Given the description of an element on the screen output the (x, y) to click on. 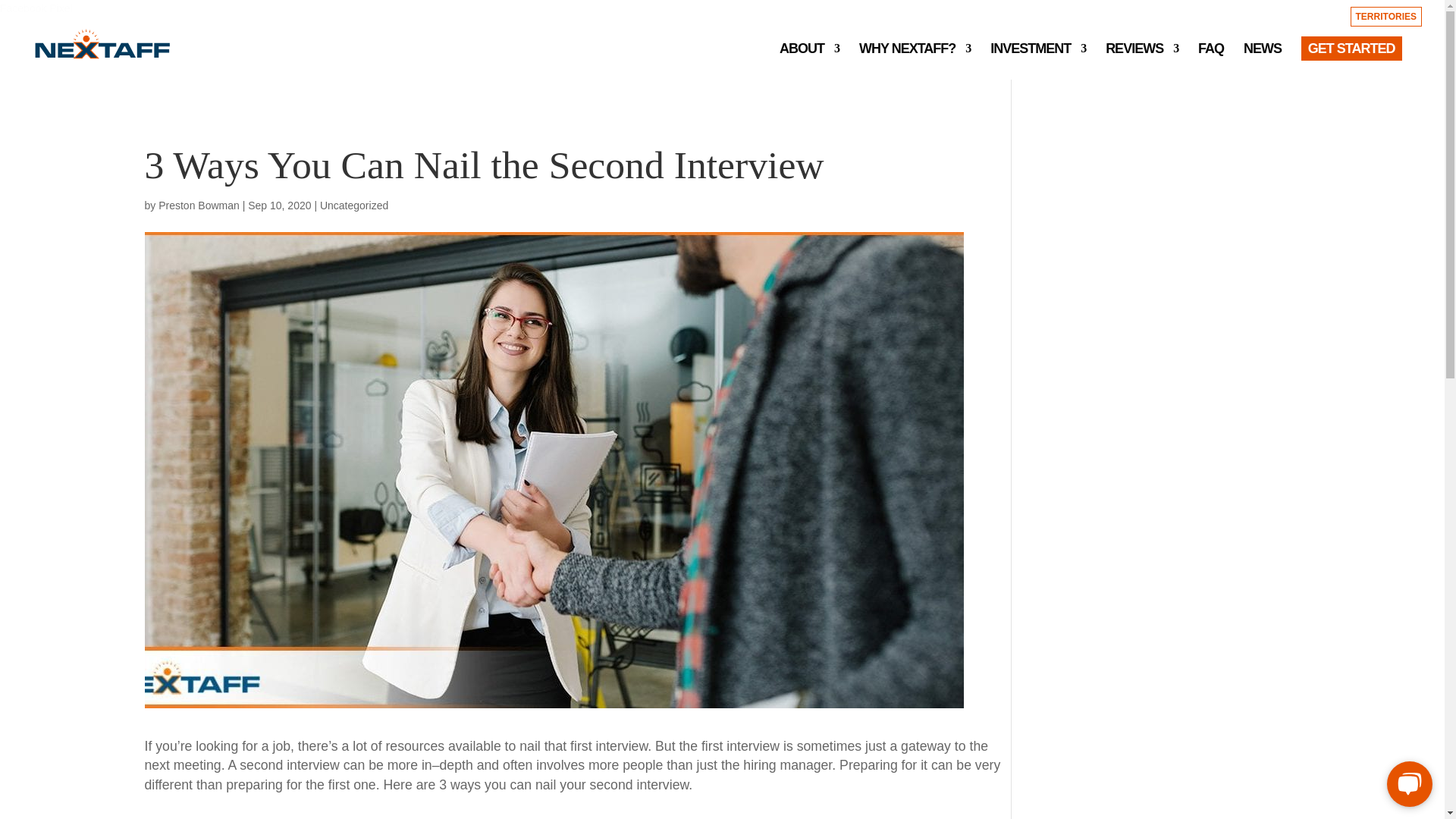
NEWS (1262, 57)
INVESTMENT (1038, 57)
GET STARTED (1351, 57)
Posts by Preston Bowman (199, 205)
REVIEWS (1141, 57)
WHY NEXTAFF? (915, 57)
TERRITORIES (1386, 9)
ABOUT (809, 57)
